Given the description of an element on the screen output the (x, y) to click on. 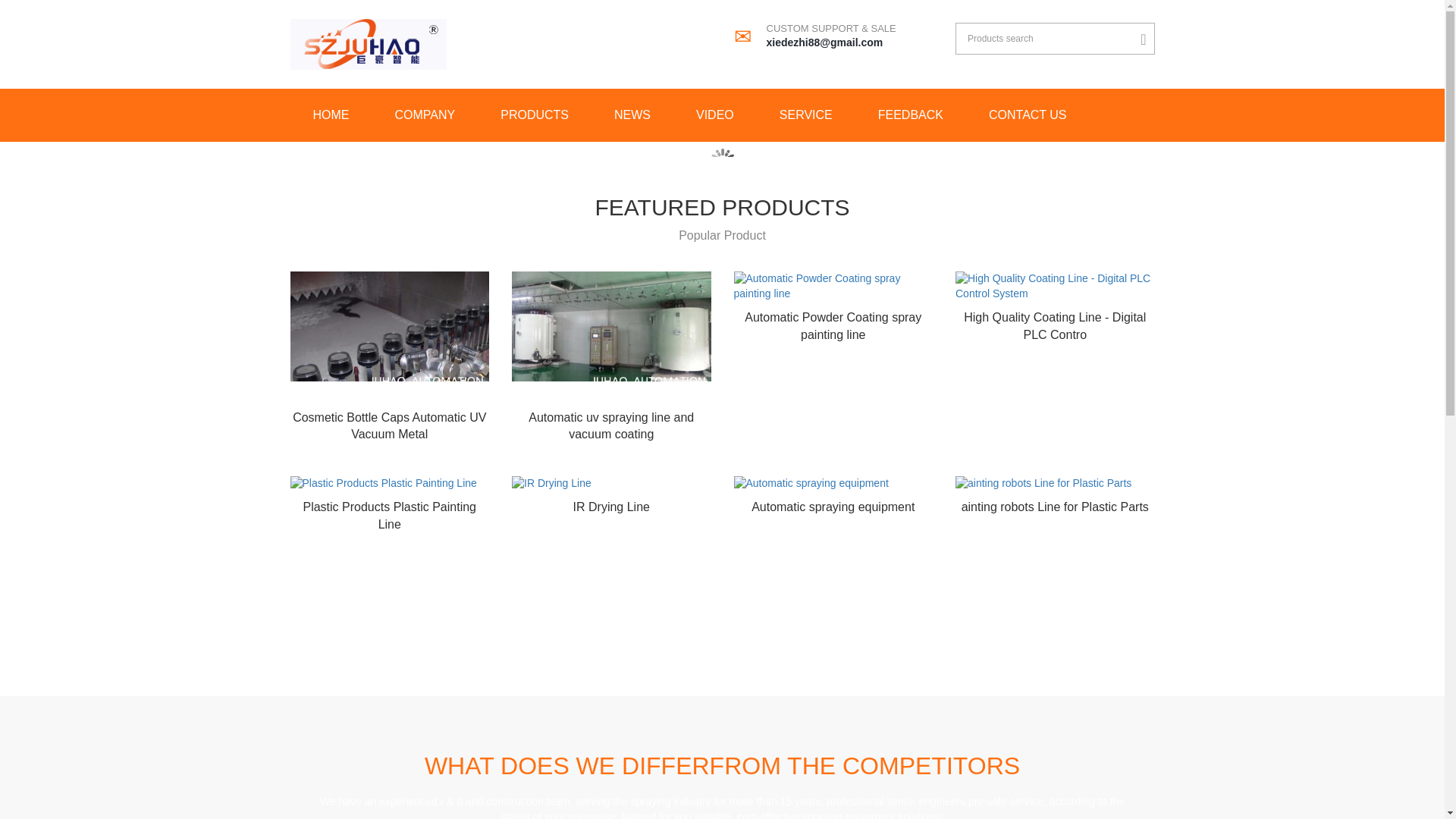
NEWS (631, 114)
Cosmetic Bottle Caps Automatic UV Vacuum Metal (389, 426)
Automatic Powder Coating spray painting line (832, 326)
IR Drying Line (611, 506)
VIDEO (714, 114)
1 (713, 148)
COMPANY (424, 114)
2 (730, 148)
ainting robots Line for Plastic Parts (1054, 506)
FEEDBACK (911, 114)
Automatic spraying equipment (832, 506)
Automatic uv spraying line and vacuum coating system (611, 426)
HOME (330, 114)
Plastic Products Plastic Painting Line (389, 515)
